Given the description of an element on the screen output the (x, y) to click on. 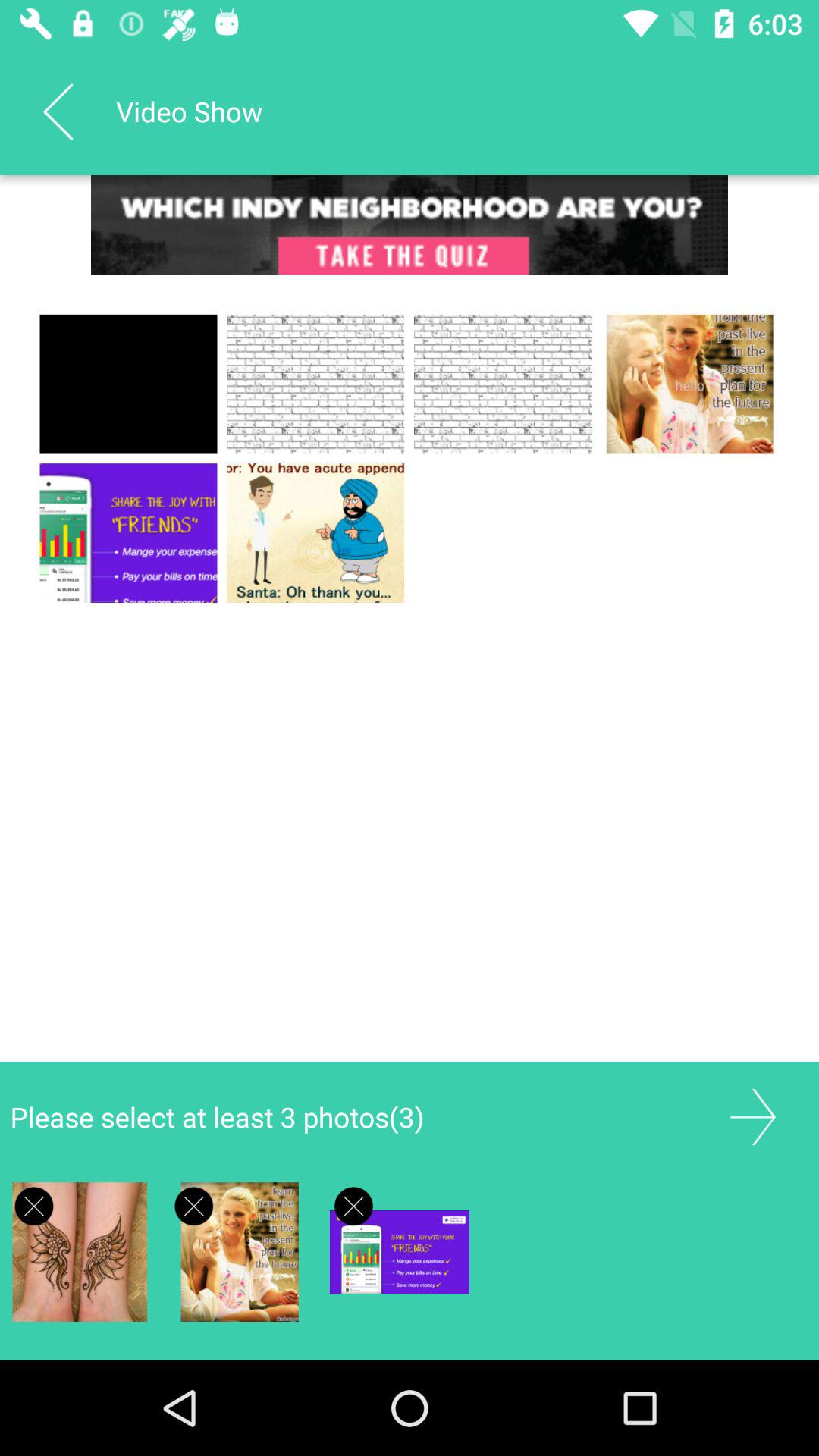
deselect photo (34, 1206)
